Given the description of an element on the screen output the (x, y) to click on. 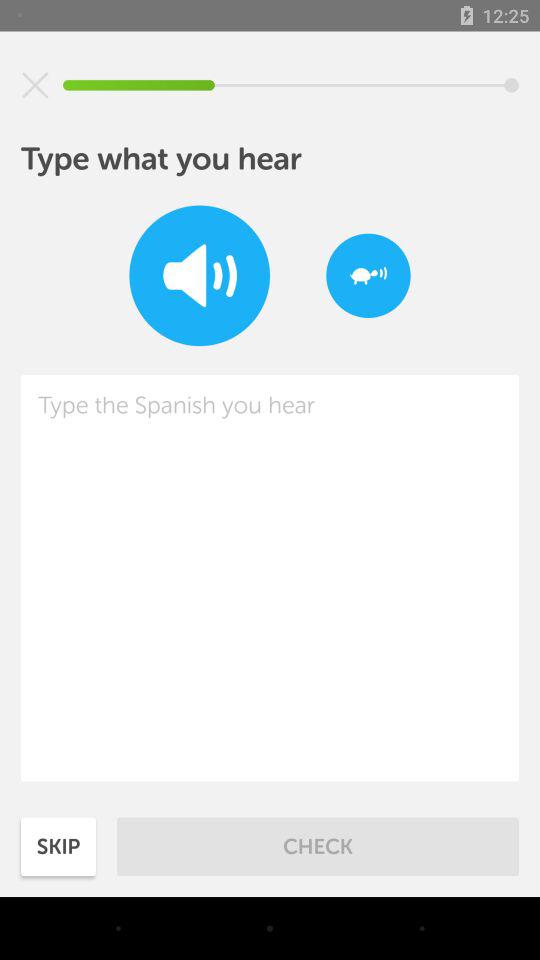
volume (199, 275)
